Given the description of an element on the screen output the (x, y) to click on. 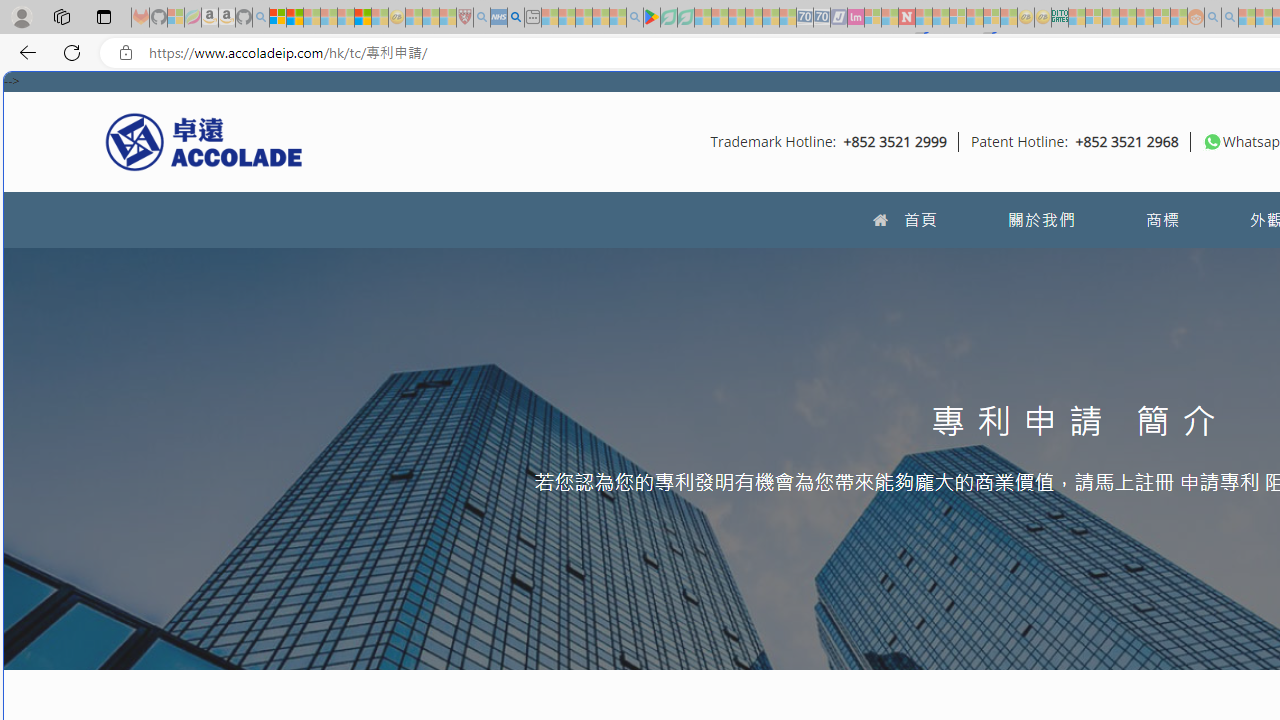
Pets - MSN - Sleeping (600, 17)
